Given the description of an element on the screen output the (x, y) to click on. 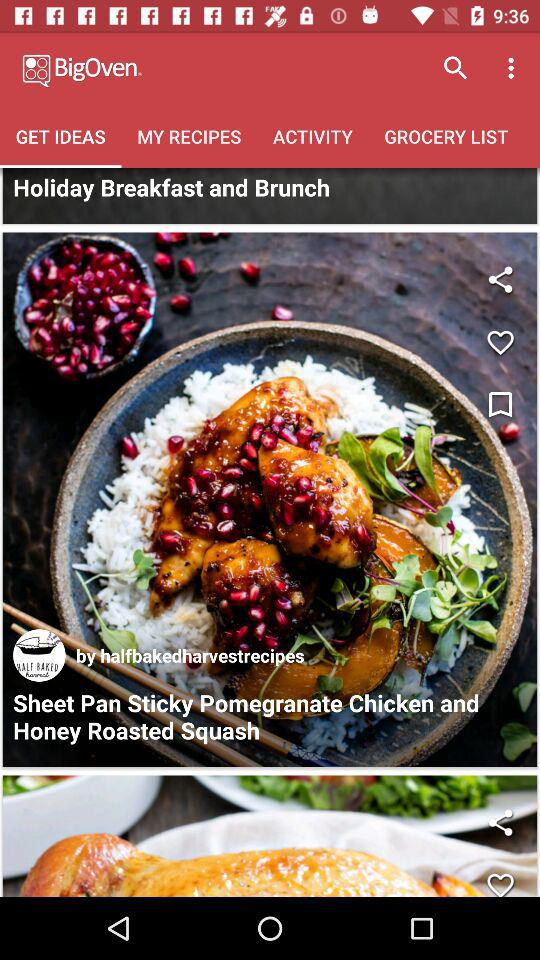
turn off item to the left of the by halfbakedharvestrecipes icon (39, 655)
